Given the description of an element on the screen output the (x, y) to click on. 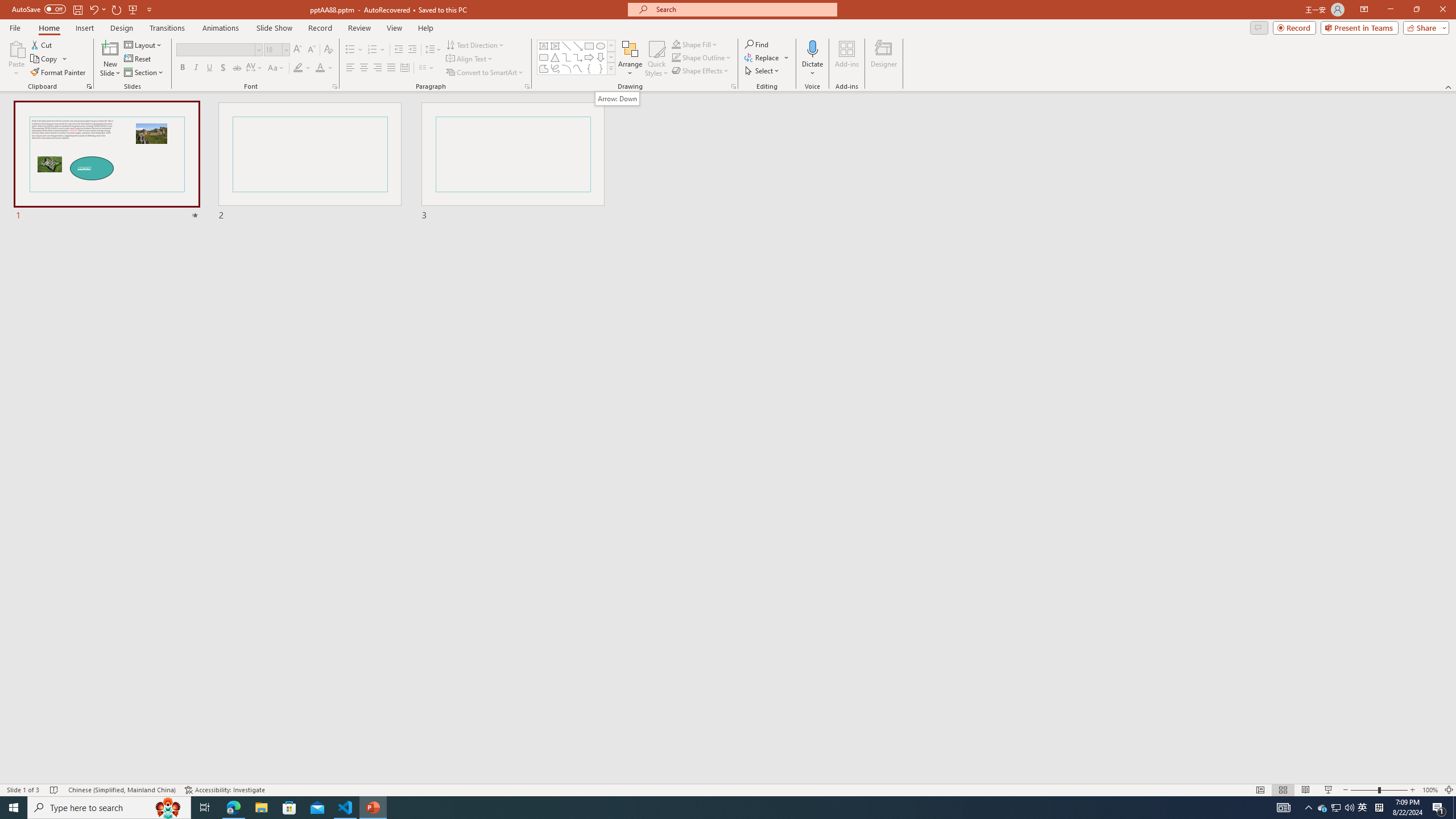
Justify (390, 67)
Center (363, 67)
Shapes (611, 68)
Find... (756, 44)
Arrow: Right (589, 57)
Italic (195, 67)
Row up (611, 45)
Align Text (470, 58)
